Given the description of an element on the screen output the (x, y) to click on. 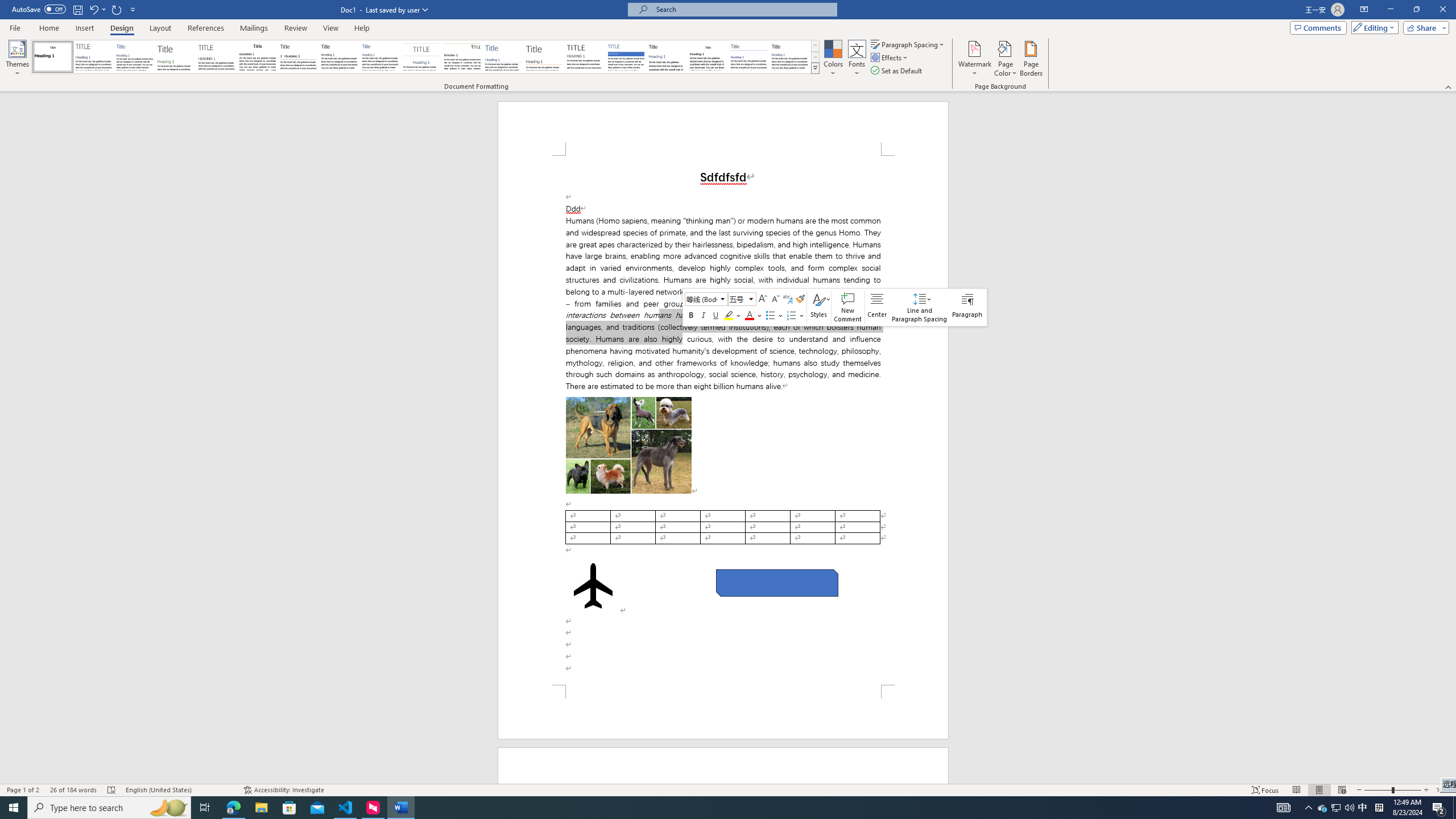
Word (666, 56)
Center (876, 307)
Repeat Italic (117, 9)
Lines (Simple) (503, 56)
Minimalist (584, 56)
Line and Paragraph Spacing (919, 307)
